Given the description of an element on the screen output the (x, y) to click on. 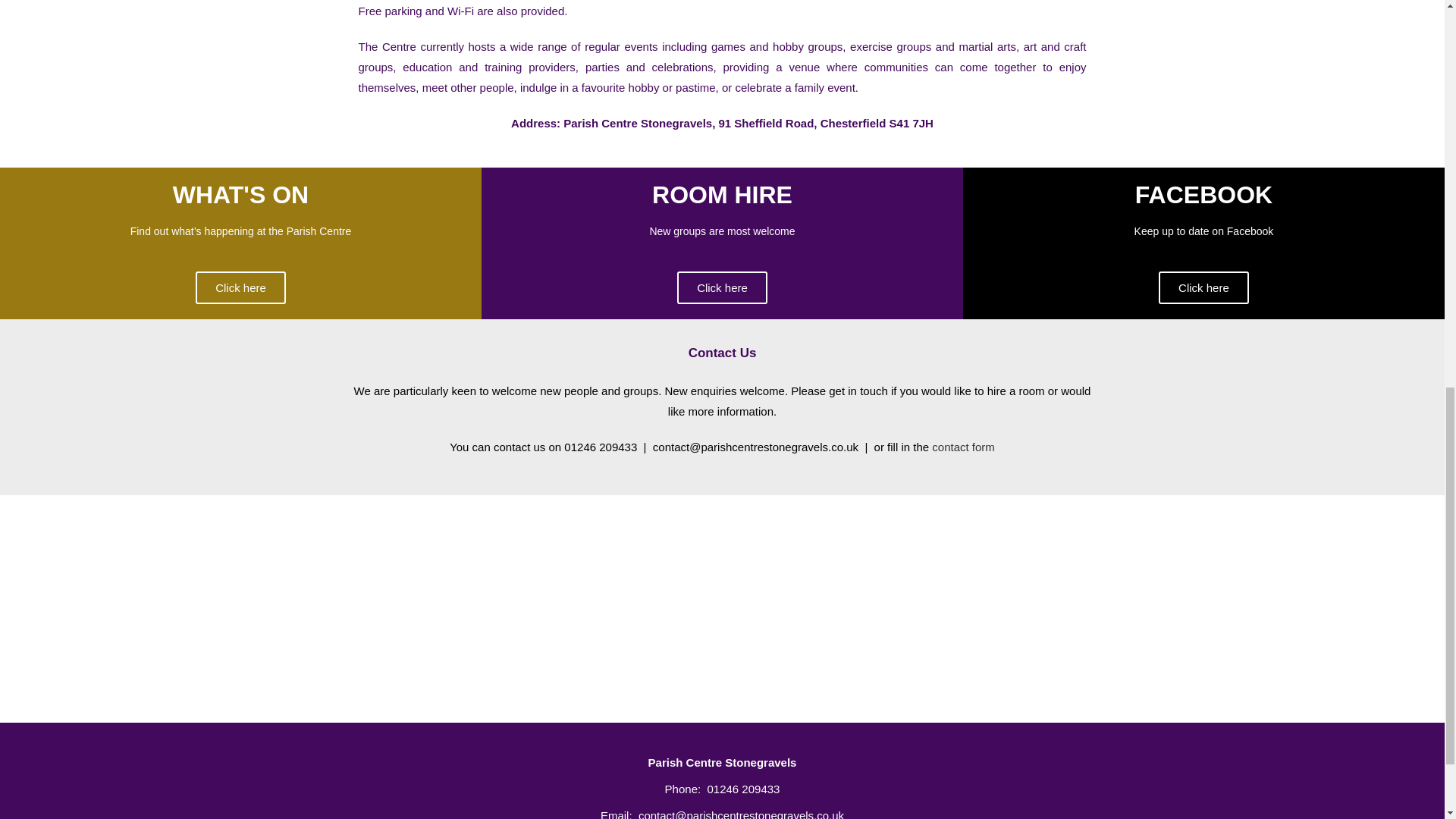
Click here (1203, 287)
Click here (722, 287)
Click here (240, 287)
contact form (962, 446)
